Given the description of an element on the screen output the (x, y) to click on. 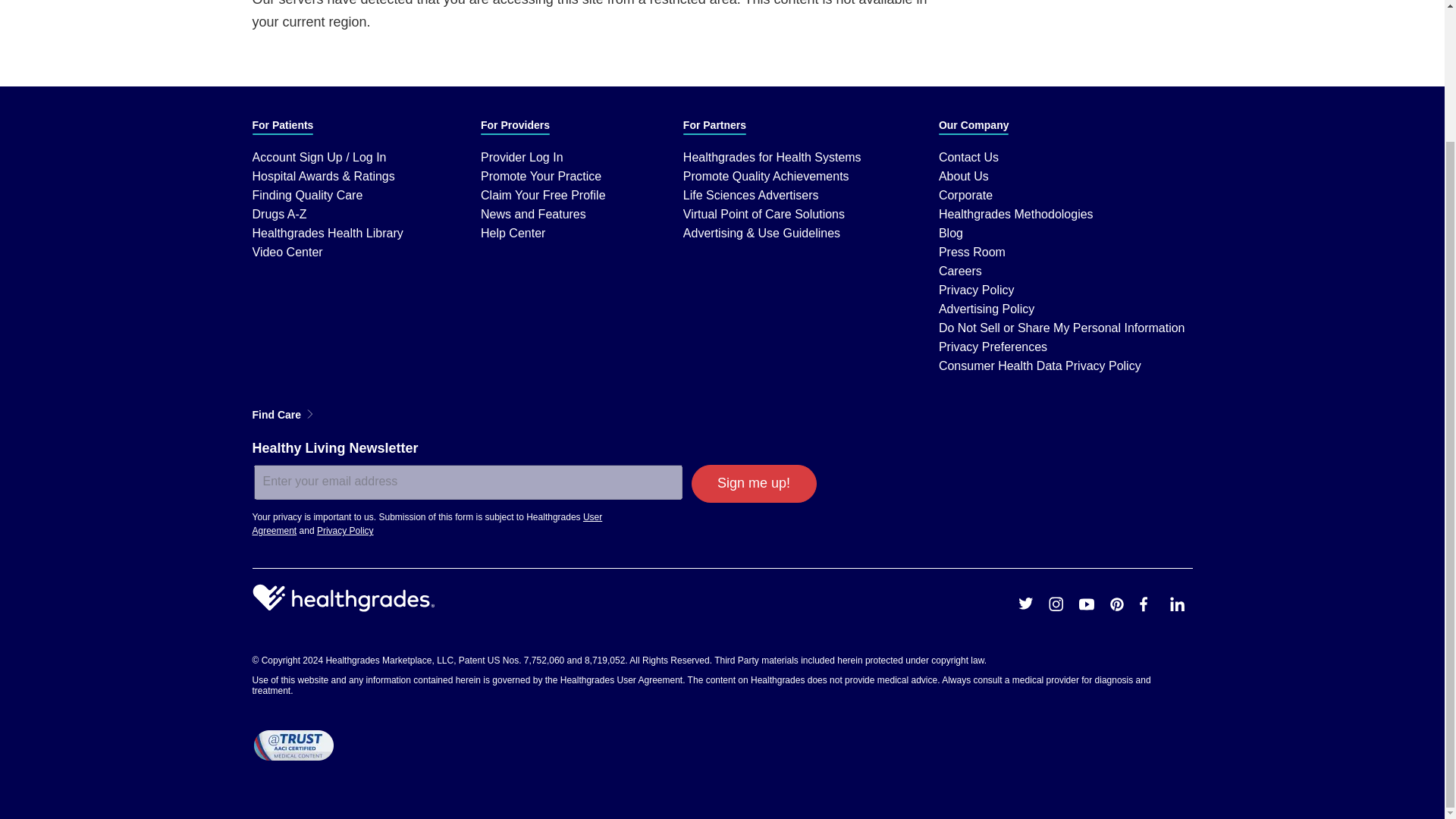
This website is certified by AACI. Click to verify. (293, 745)
